Given the description of an element on the screen output the (x, y) to click on. 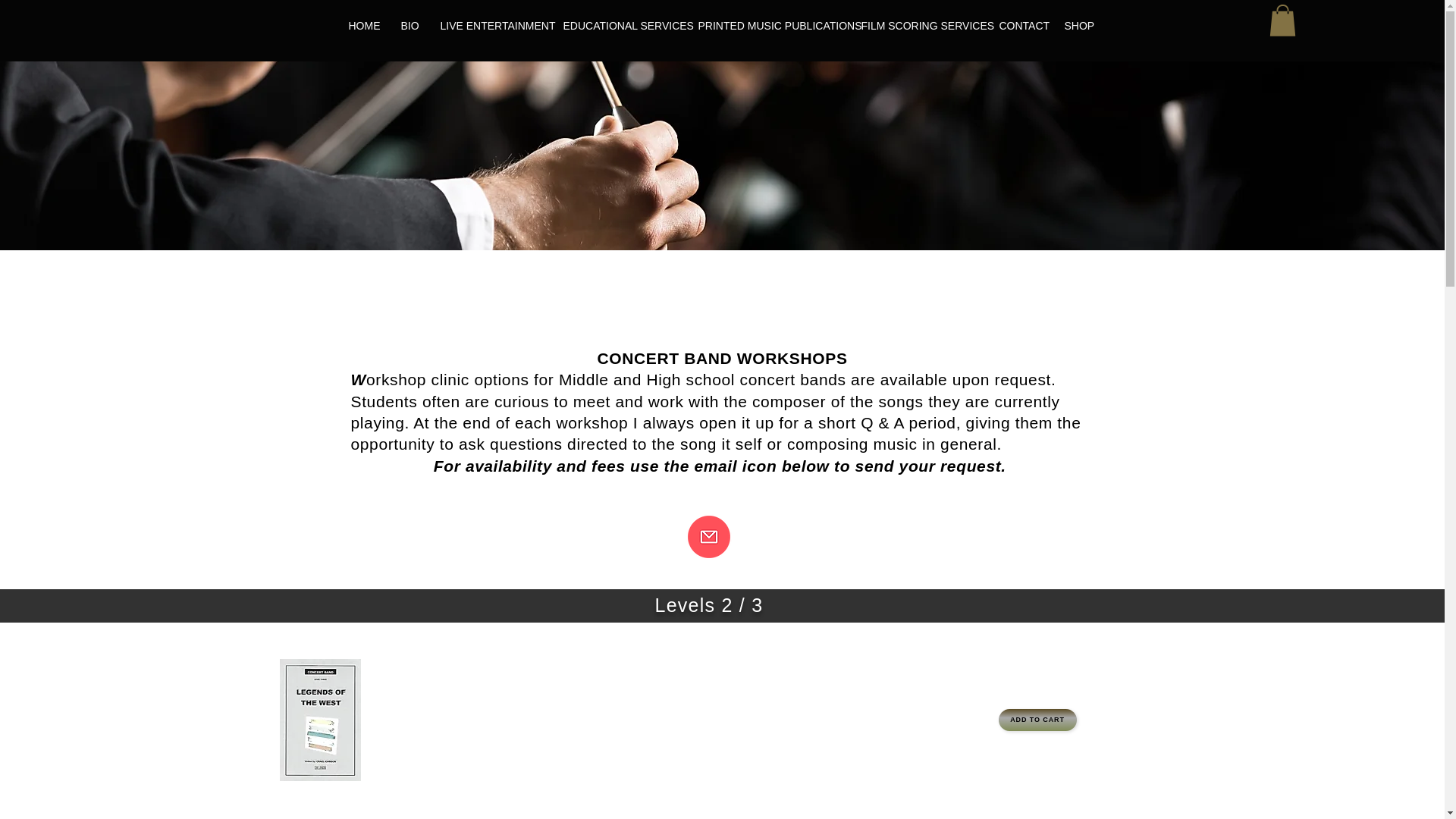
HOME (362, 25)
BIO (408, 25)
CONTACT (1019, 25)
FILM SCORING SERVICES (917, 25)
ADD TO CART (1036, 720)
SHOP (1077, 25)
